Given the description of an element on the screen output the (x, y) to click on. 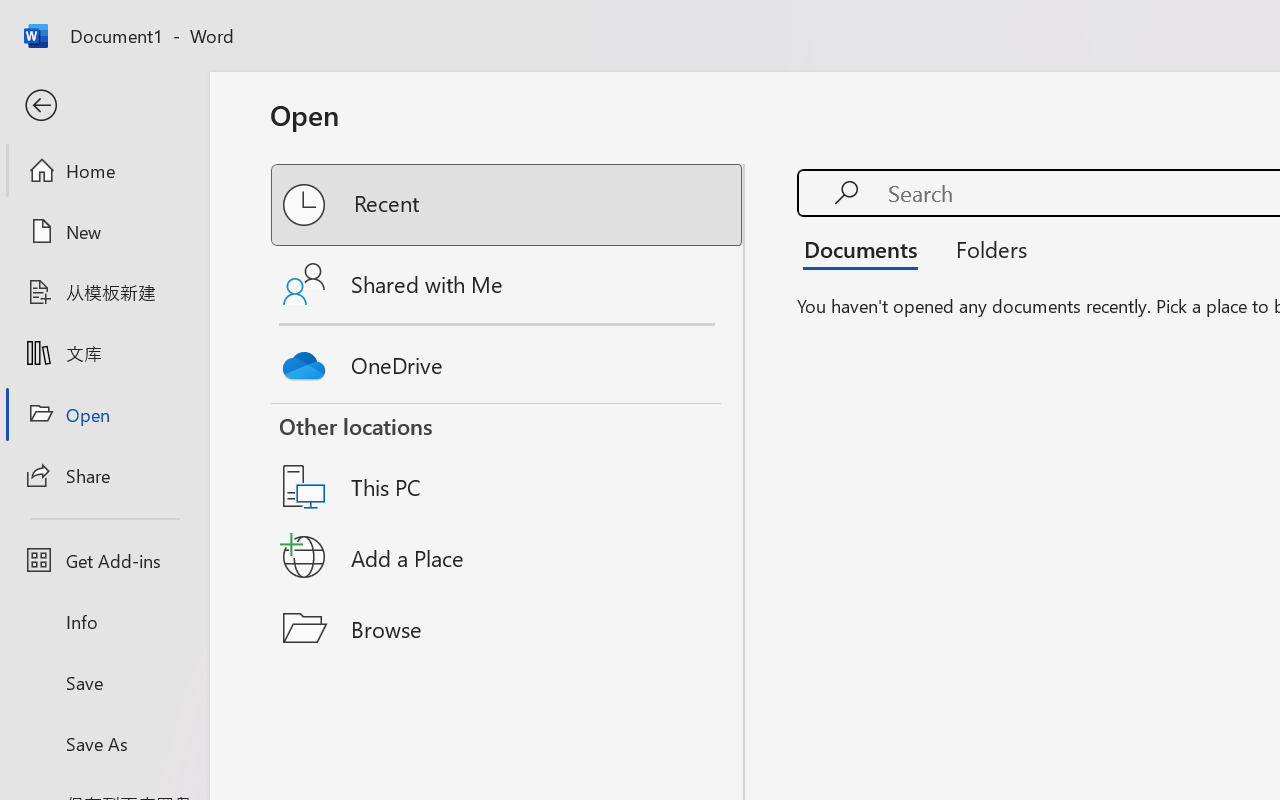
New (104, 231)
Recent (507, 205)
Info (104, 621)
Shared with Me (507, 283)
